Given the description of an element on the screen output the (x, y) to click on. 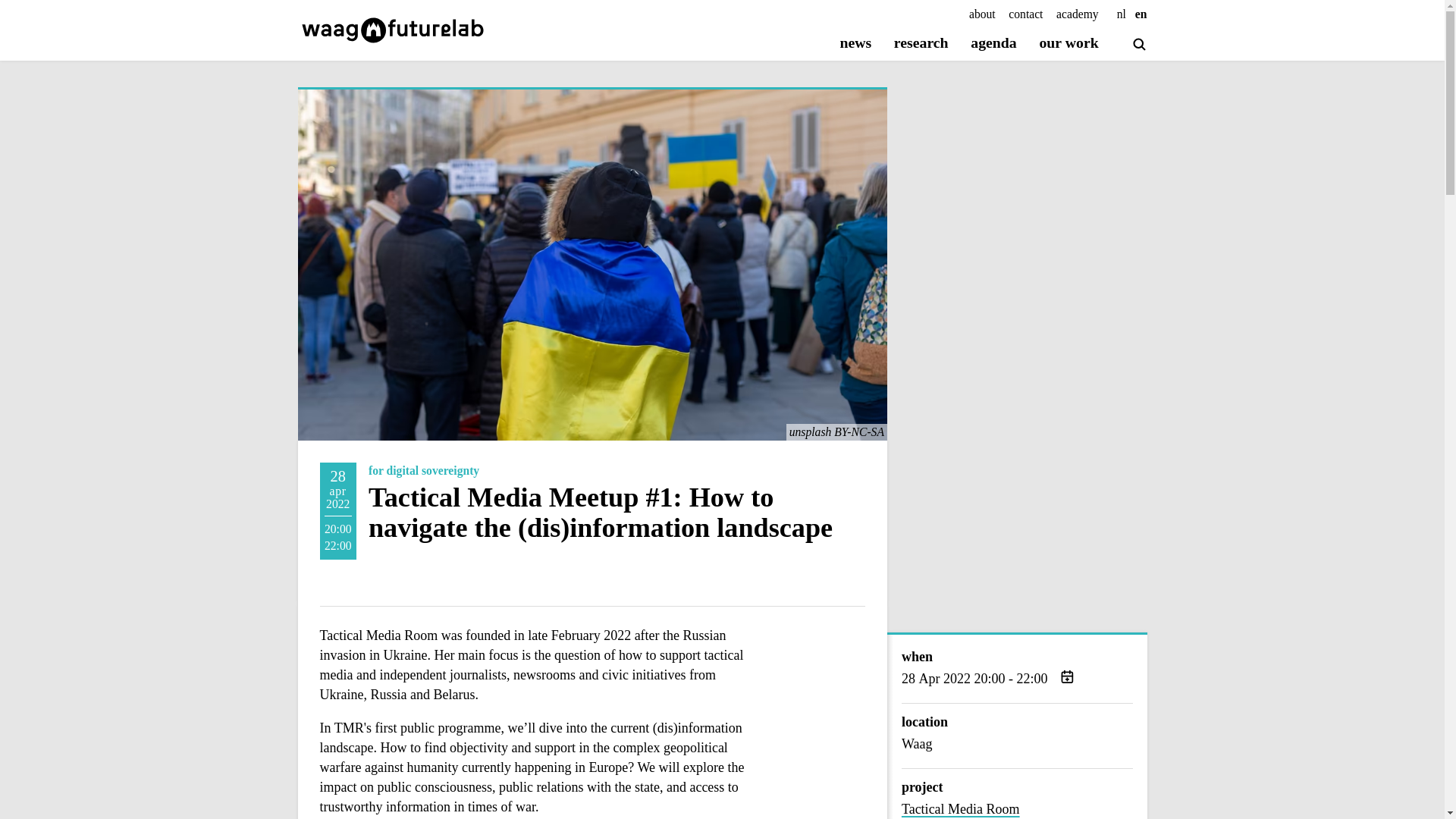
research (921, 43)
agenda (993, 43)
news (855, 43)
about (982, 13)
academy (1078, 13)
our work (1068, 43)
Tactical Media Room (1016, 809)
contact (1025, 13)
